Given the description of an element on the screen output the (x, y) to click on. 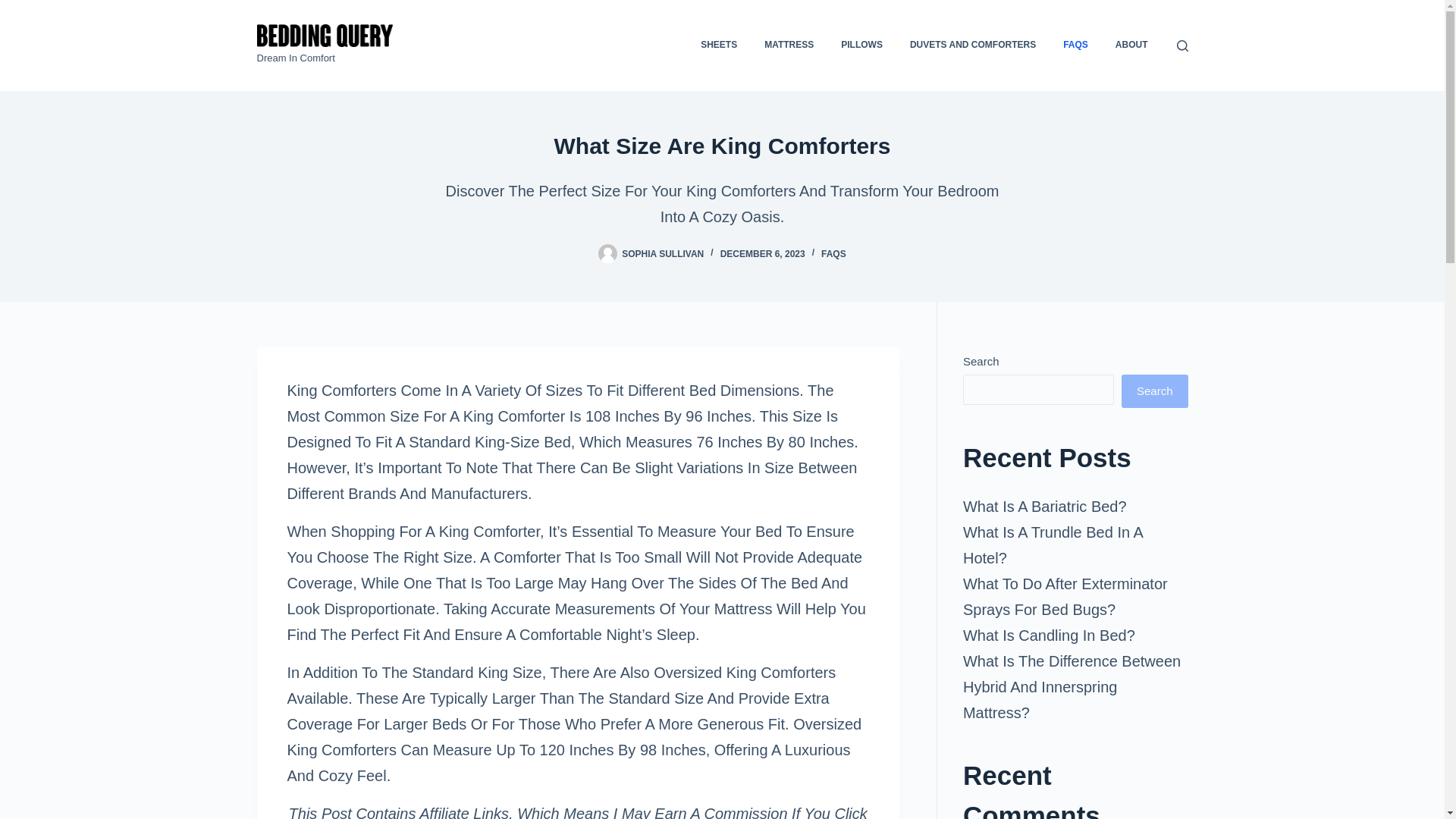
SOPHIA SULLIVAN (662, 253)
Search (1154, 390)
What Is A Bariatric Bed? (1044, 506)
DUVETS AND COMFORTERS (972, 45)
what size are king comforters (722, 145)
What Is A Trundle Bed In A Hotel? (1052, 545)
FAQS (833, 253)
Skip To Content (15, 7)
Posts by Sophia Sullivan (662, 253)
